Given the description of an element on the screen output the (x, y) to click on. 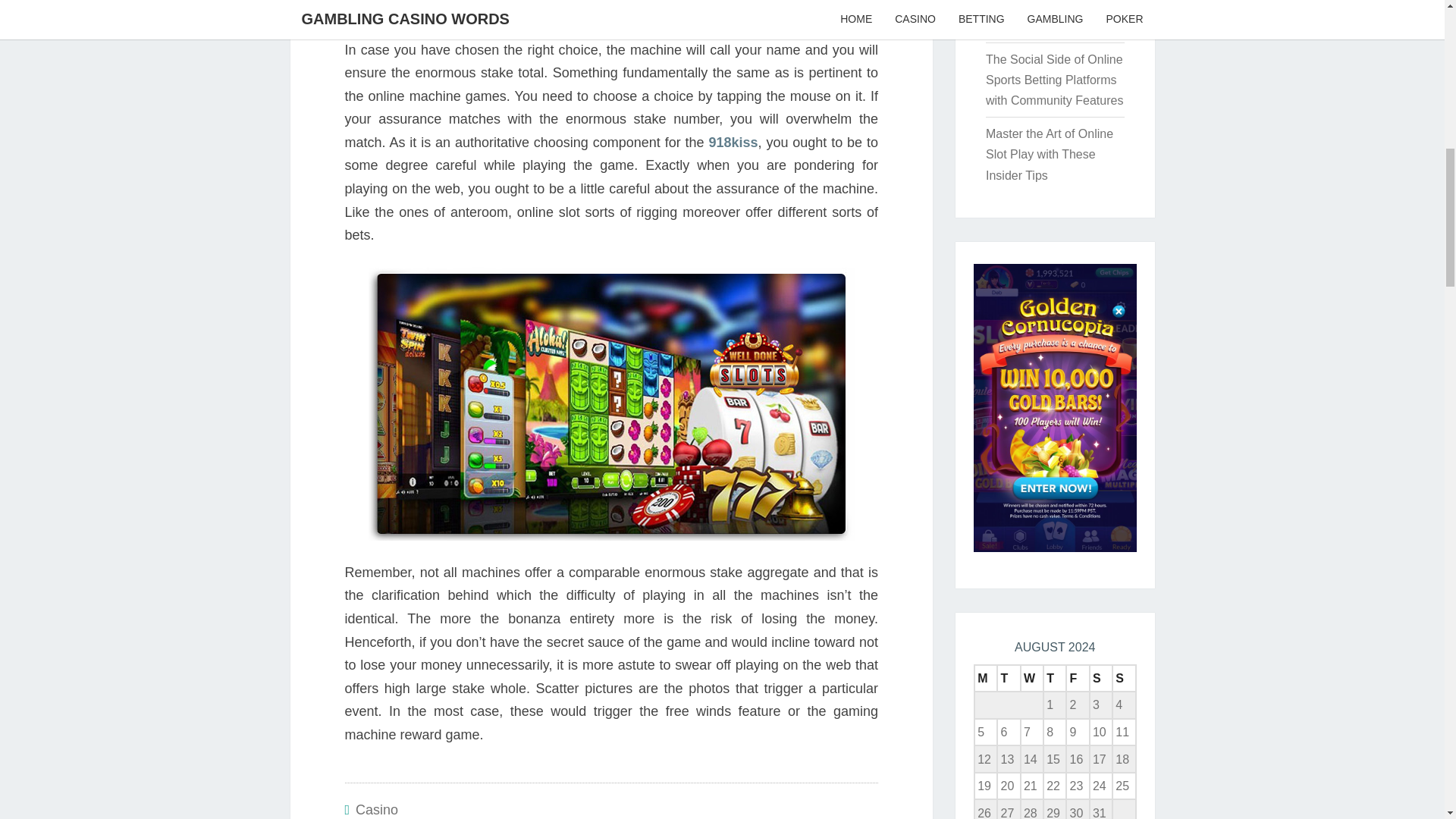
Master the Art of Online Slot Play with These Insider Tips (1049, 153)
918kiss (732, 142)
Casino (376, 809)
